Given the description of an element on the screen output the (x, y) to click on. 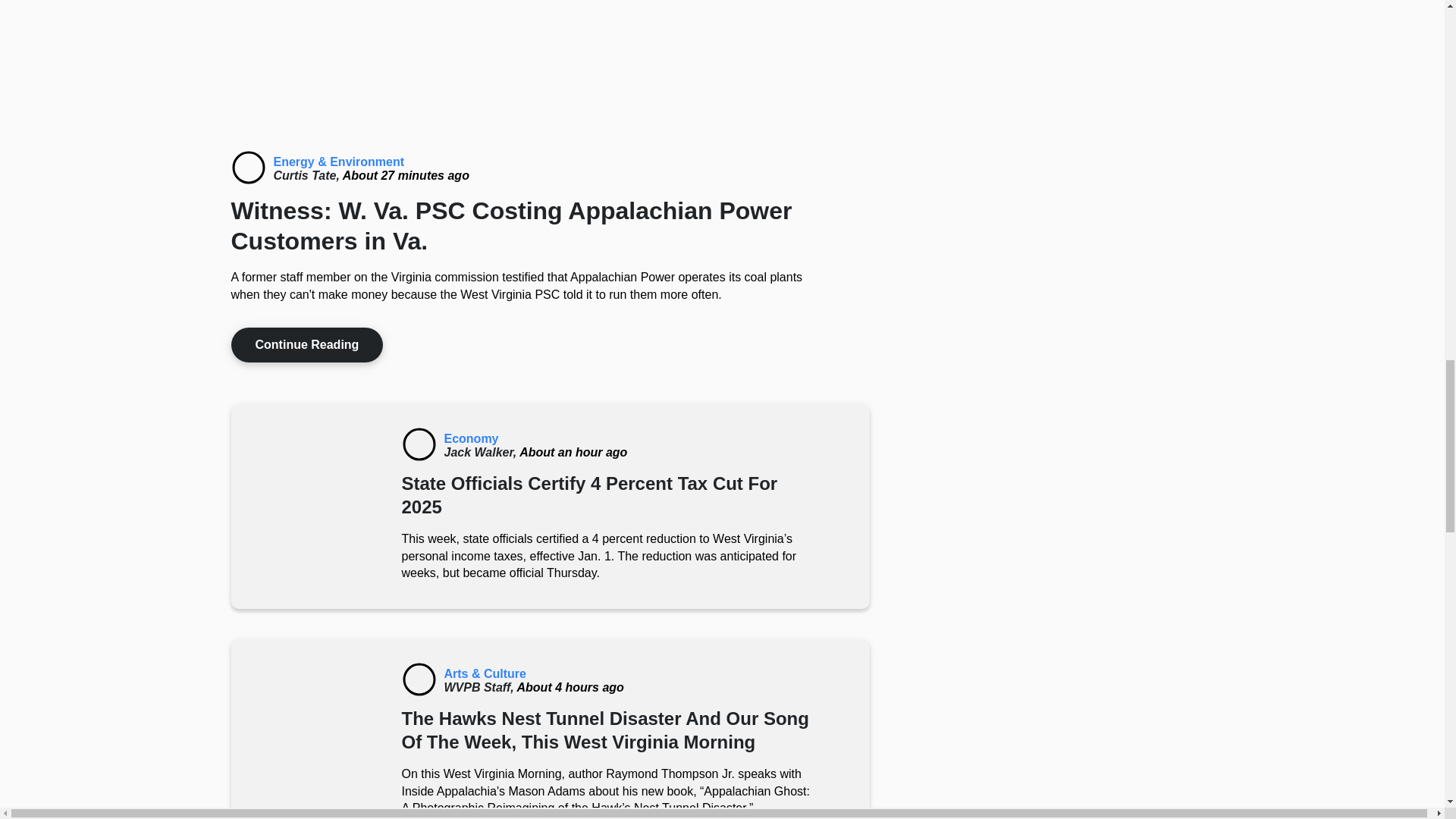
State Officials Certify 4 Percent Tax Cut For 2025 (418, 443)
Jack Walker (481, 451)
WVPB Staff (480, 686)
Curtis Tate (307, 174)
